Given the description of an element on the screen output the (x, y) to click on. 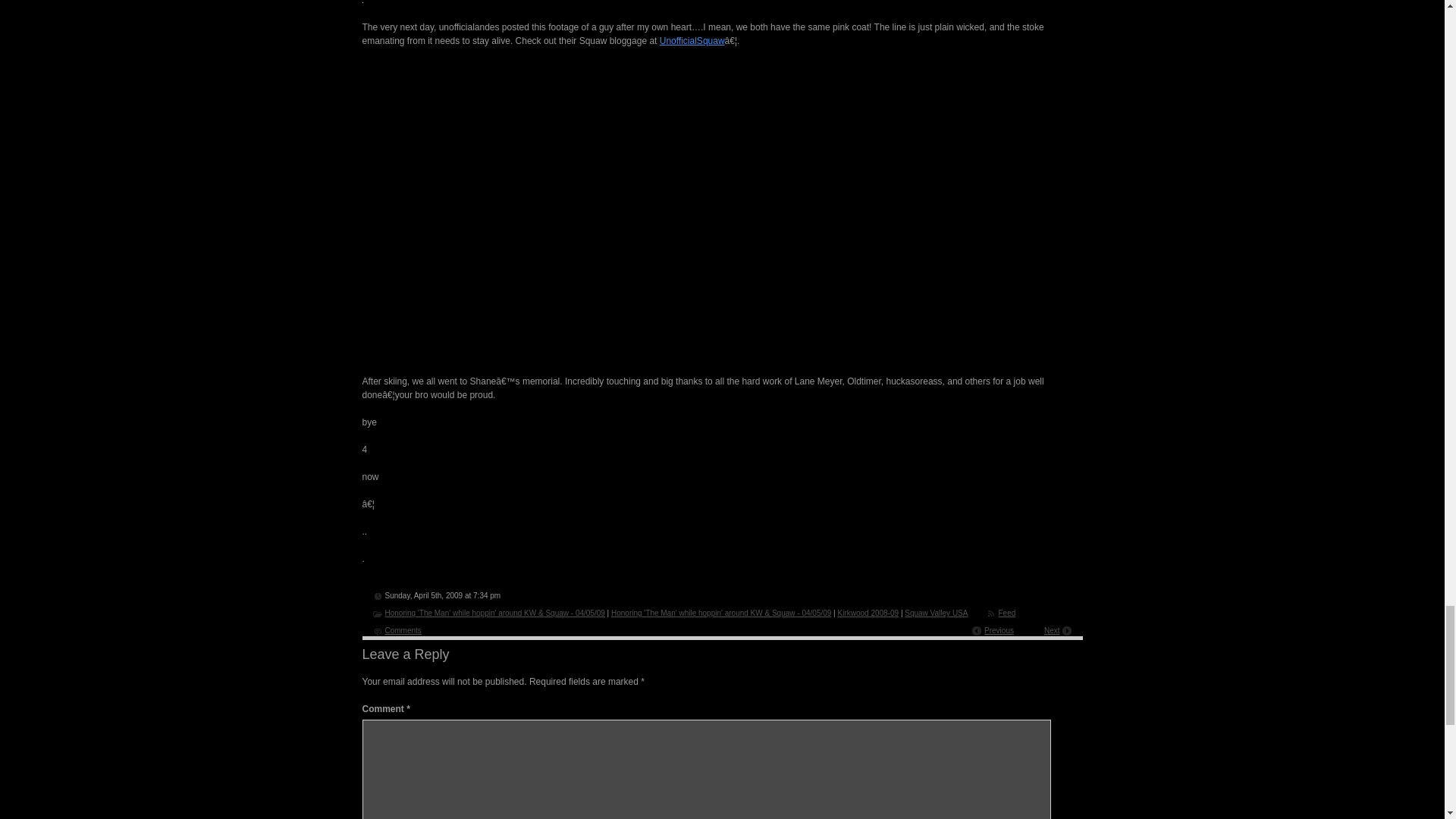
Comments (722, 727)
